Given the description of an element on the screen output the (x, y) to click on. 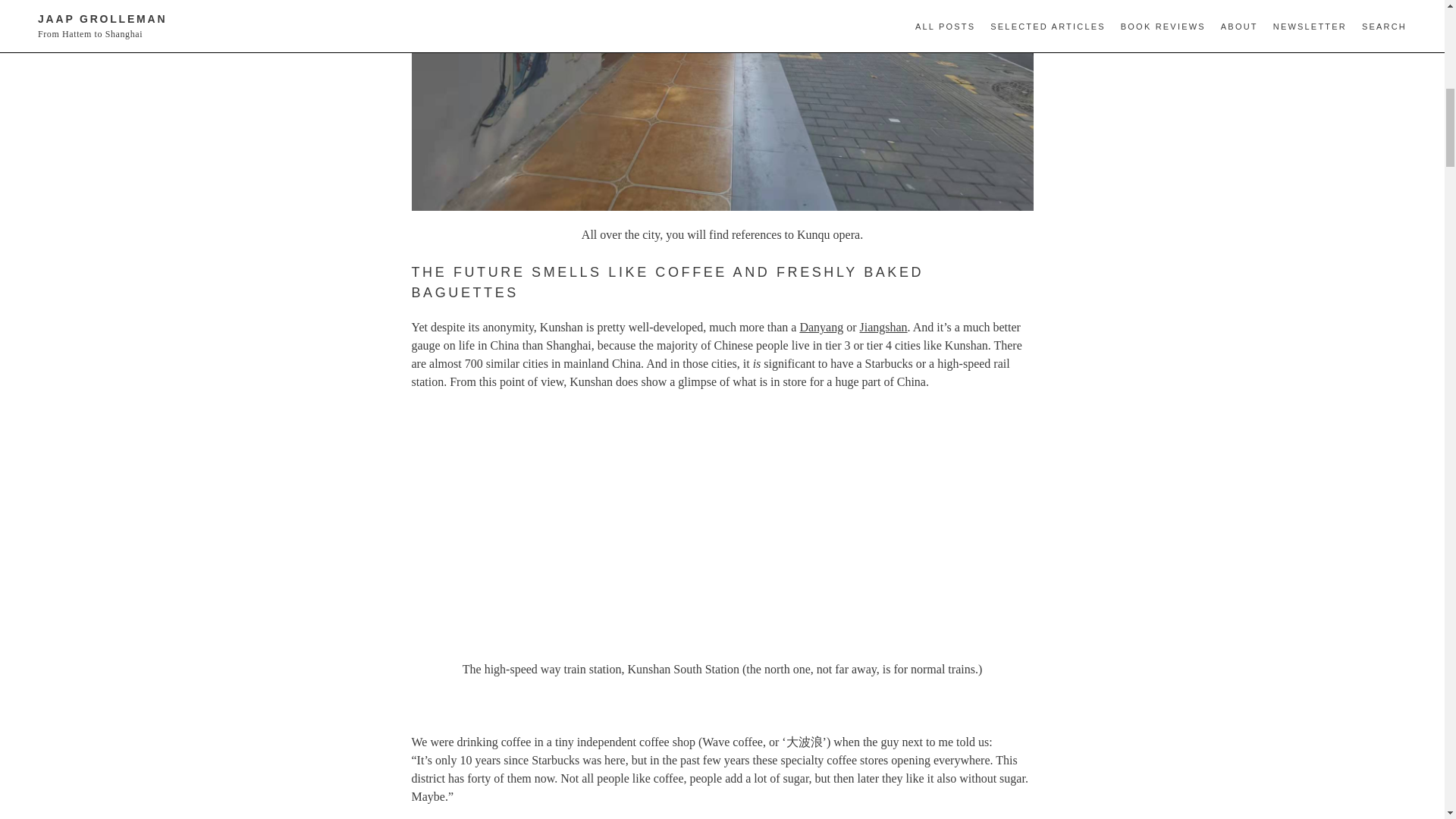
Danyang (821, 327)
Jiangshan (883, 327)
